Given the description of an element on the screen output the (x, y) to click on. 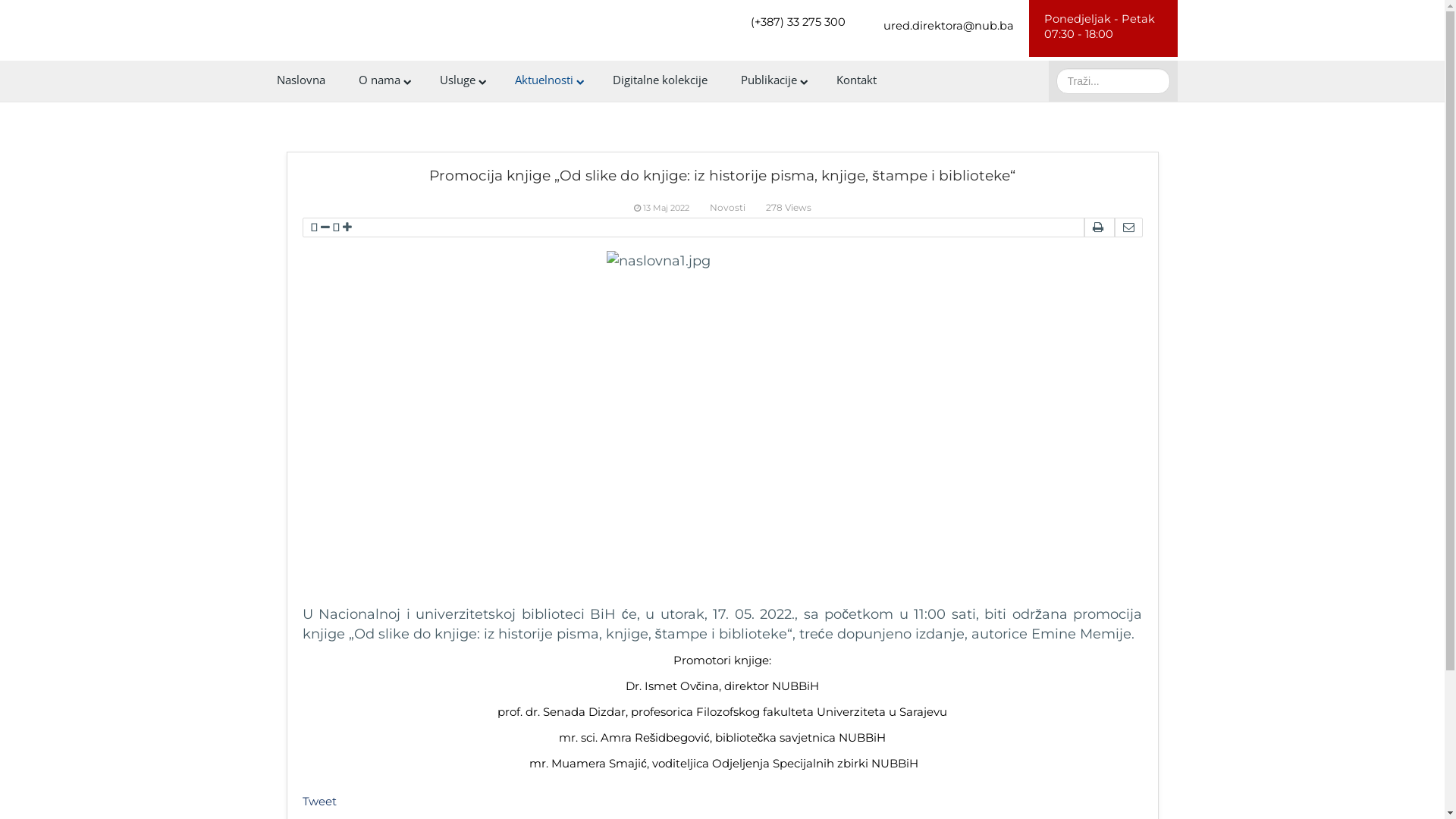
Digitalne kolekcije Element type: text (659, 80)
Naslovna Element type: text (299, 80)
Novosti Element type: text (727, 207)
Publikacije Element type: text (771, 80)
O nama Element type: text (381, 80)
Usluge Element type: text (460, 80)
Aktuelnosti Element type: text (546, 80)
Printaj Element type: hover (1097, 226)
Kontakt Element type: text (855, 80)
Tweet Element type: text (318, 800)
smanji slova Element type: hover (324, 226)
